Given the description of an element on the screen output the (x, y) to click on. 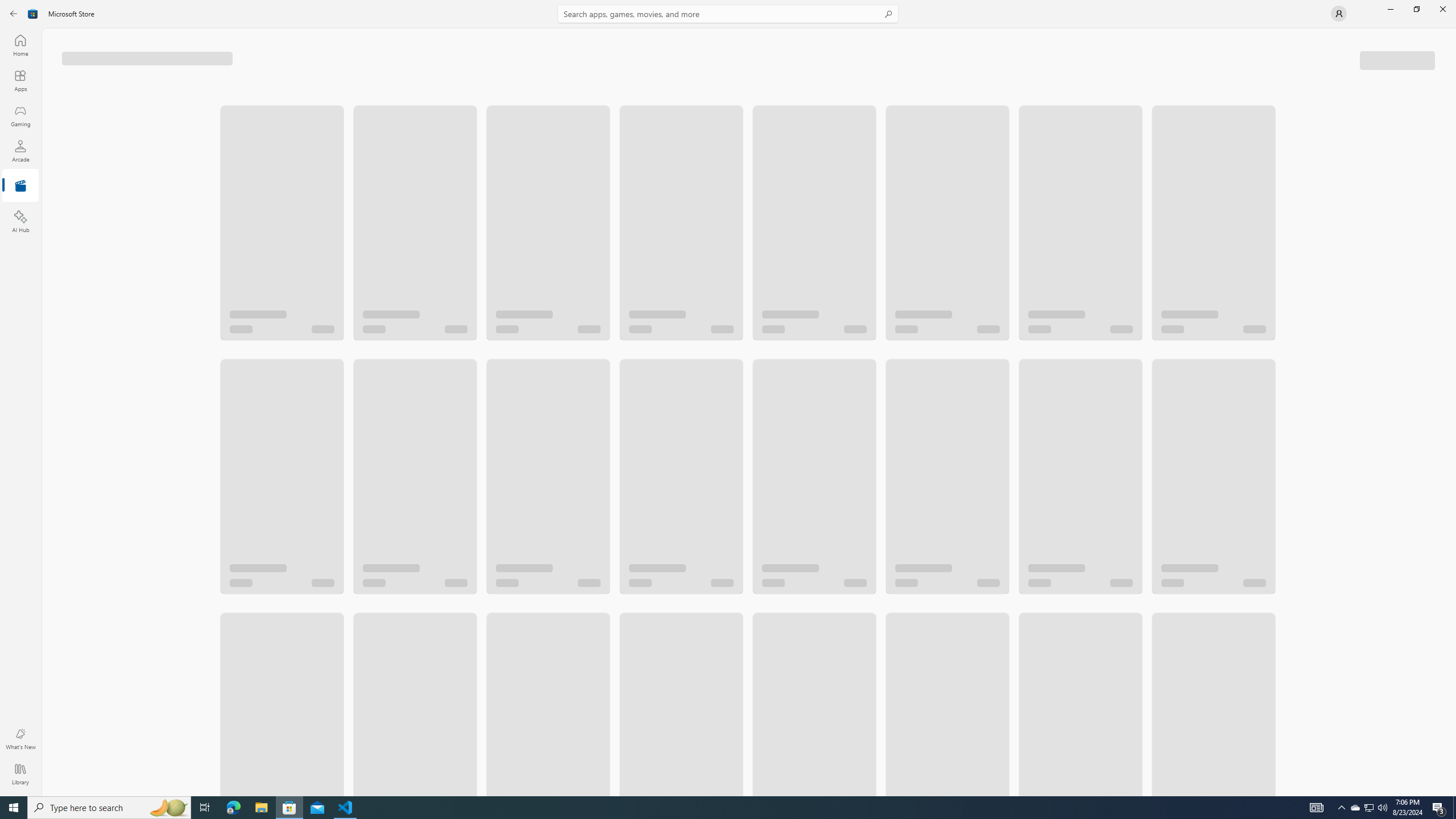
Vertical Large Increase (1452, 411)
Vertical (1452, 412)
